Given the description of an element on the screen output the (x, y) to click on. 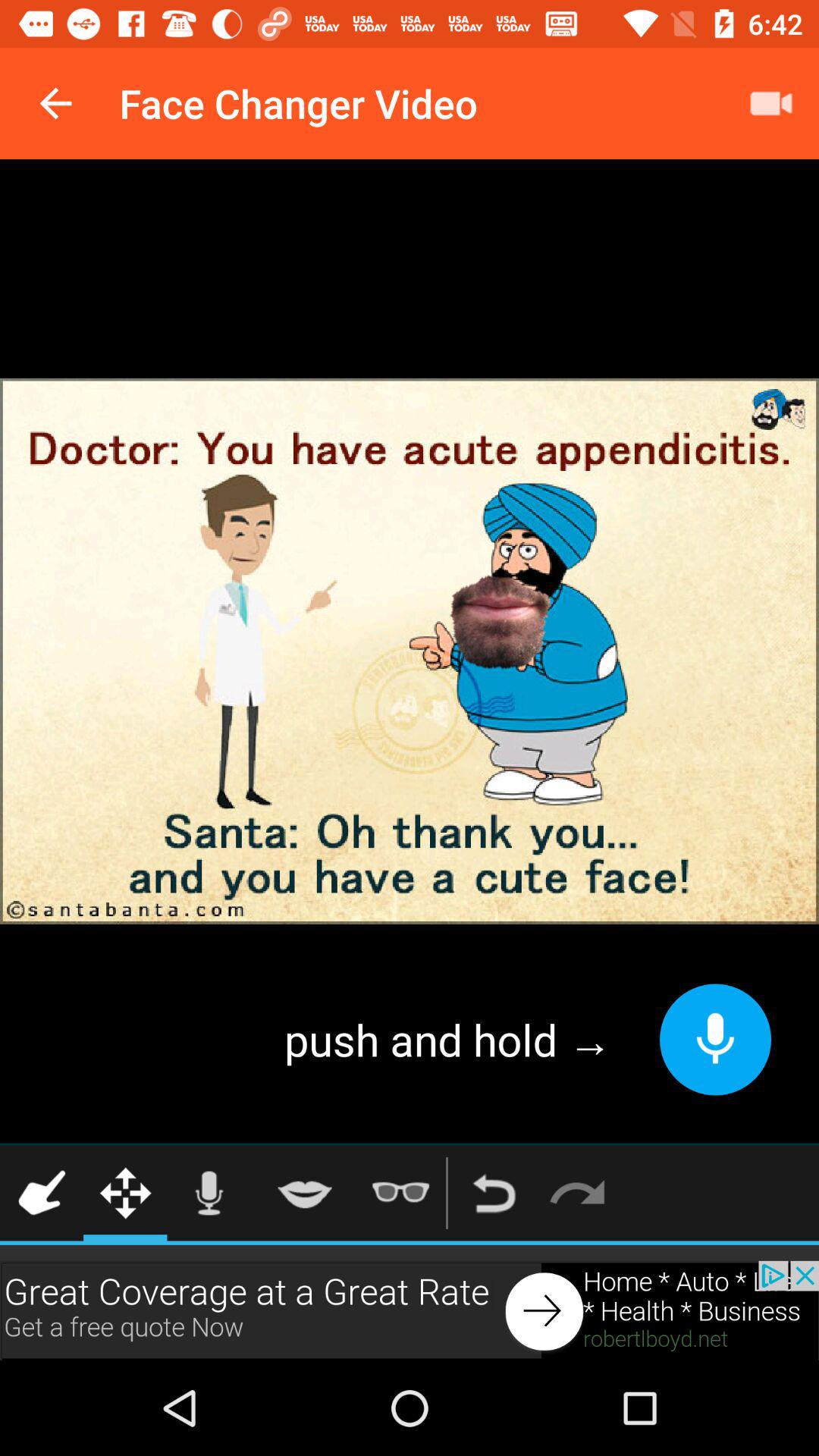
advertisement (409, 1310)
